Given the description of an element on the screen output the (x, y) to click on. 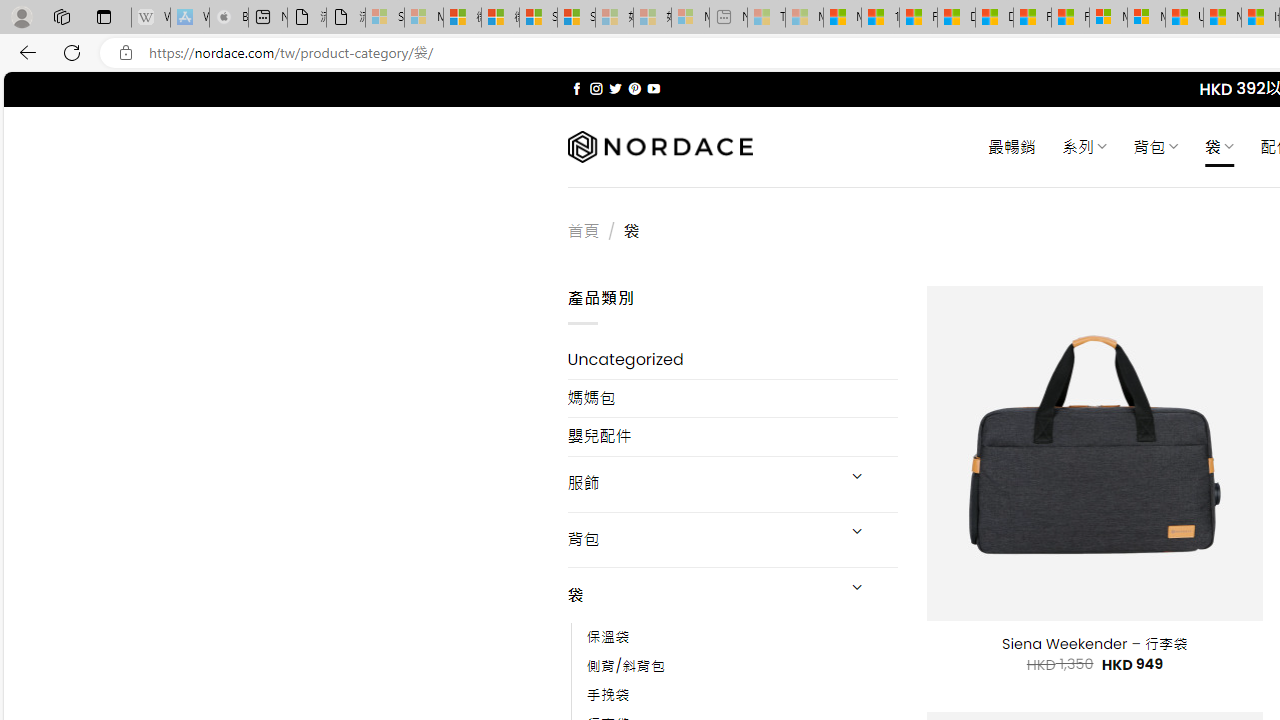
Microsoft account | Account Checkup - Sleeping (690, 17)
Drinking tea every day is proven to delay biological aging (993, 17)
